Given the description of an element on the screen output the (x, y) to click on. 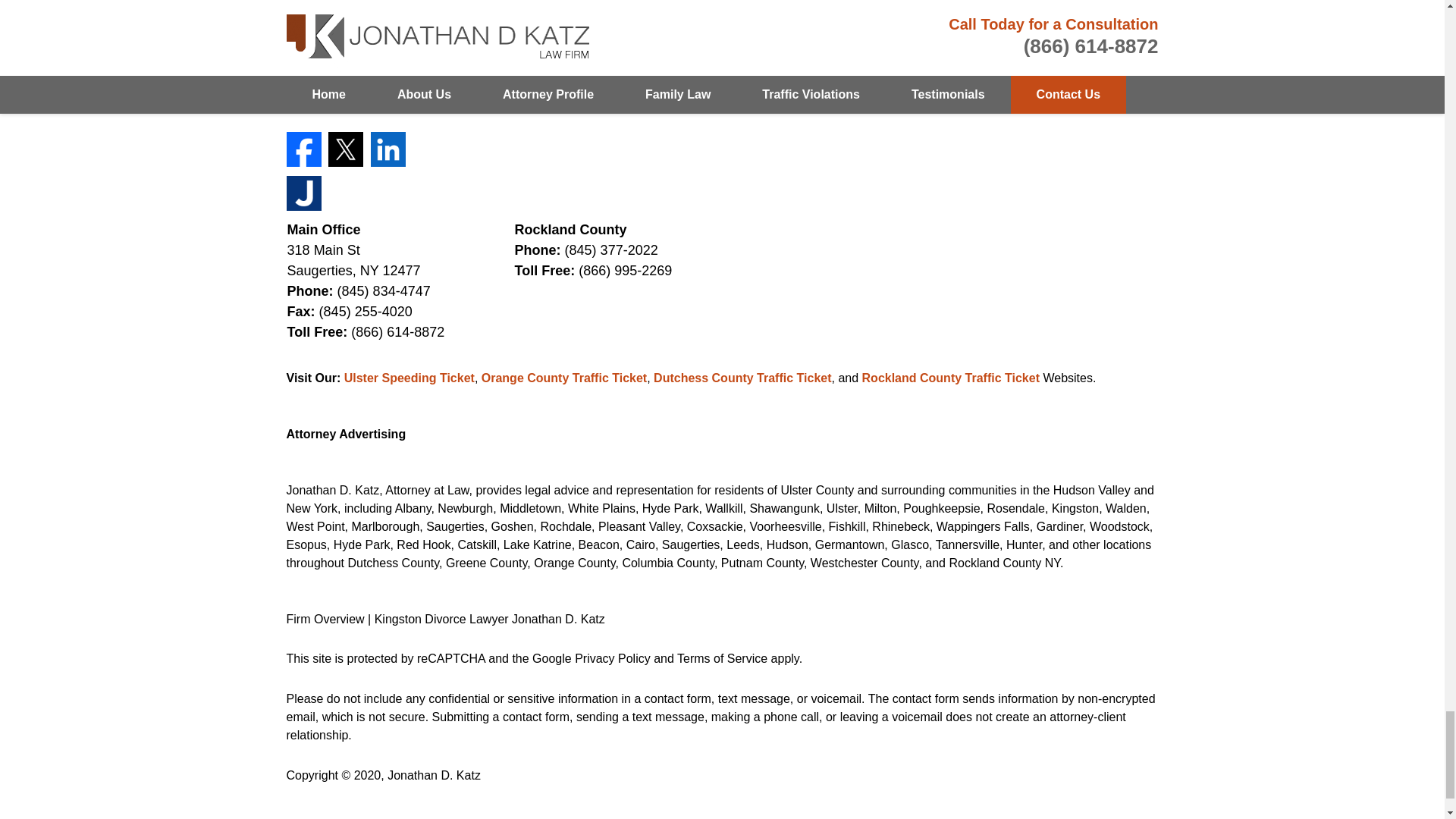
Disclaimer (875, 55)
Contact Us (1126, 55)
Facebook (303, 149)
Dutchess County Traffic Ticket (742, 377)
Site Map (1050, 55)
Orange County Traffic Ticket (563, 377)
Twitter (345, 149)
Home (810, 55)
Terms of Service (722, 658)
Privacy Policy (612, 658)
LinkedIn (388, 149)
Rockland County Traffic Ticket (950, 377)
Ulster Speeding Ticket (408, 377)
Privacy Policy (965, 55)
Justia (303, 193)
